Given the description of an element on the screen output the (x, y) to click on. 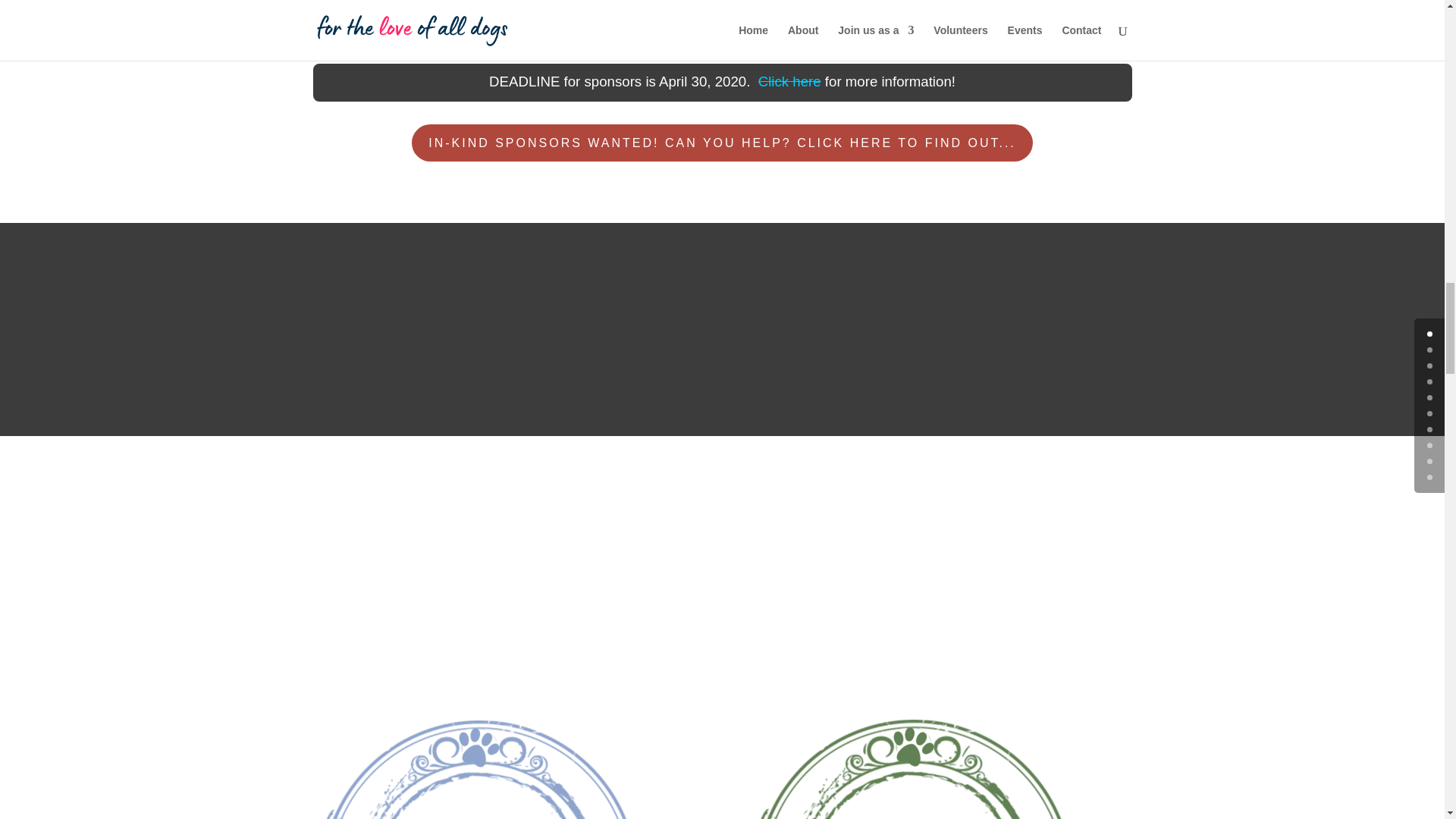
Click here (789, 81)
